Given the description of an element on the screen output the (x, y) to click on. 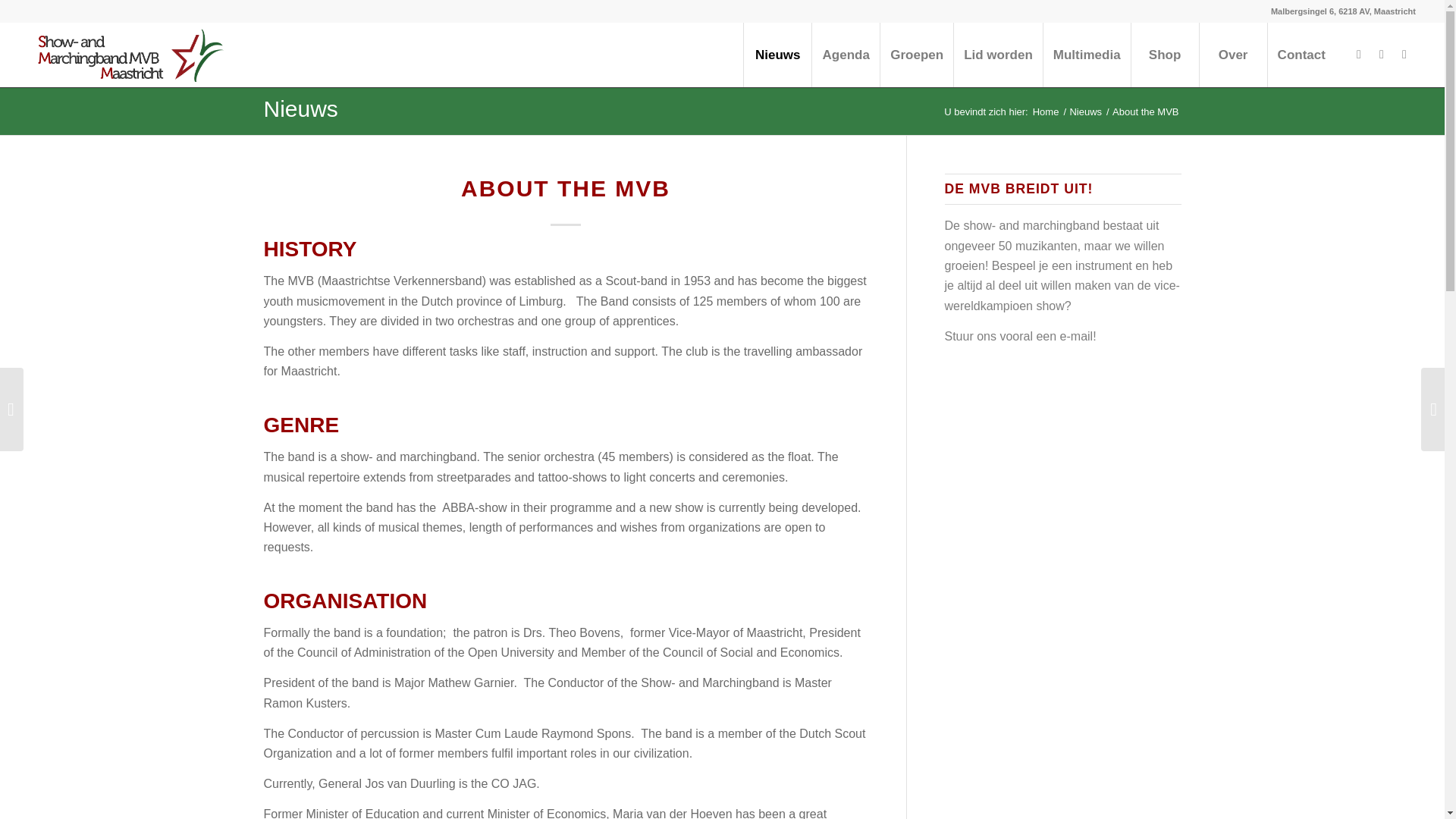
Over (1232, 54)
Lid worden (997, 54)
Groepen (916, 54)
e-mail (1076, 336)
Contact (1300, 54)
Permanente Link: Nieuws (300, 108)
Nieuws (300, 108)
Home (1045, 111)
Youtube (1404, 53)
Nieuws (1085, 111)
Shop (1164, 54)
Nieuws (776, 54)
Agenda (844, 54)
Nieuws (1085, 111)
Instagram (1381, 53)
